Given the description of an element on the screen output the (x, y) to click on. 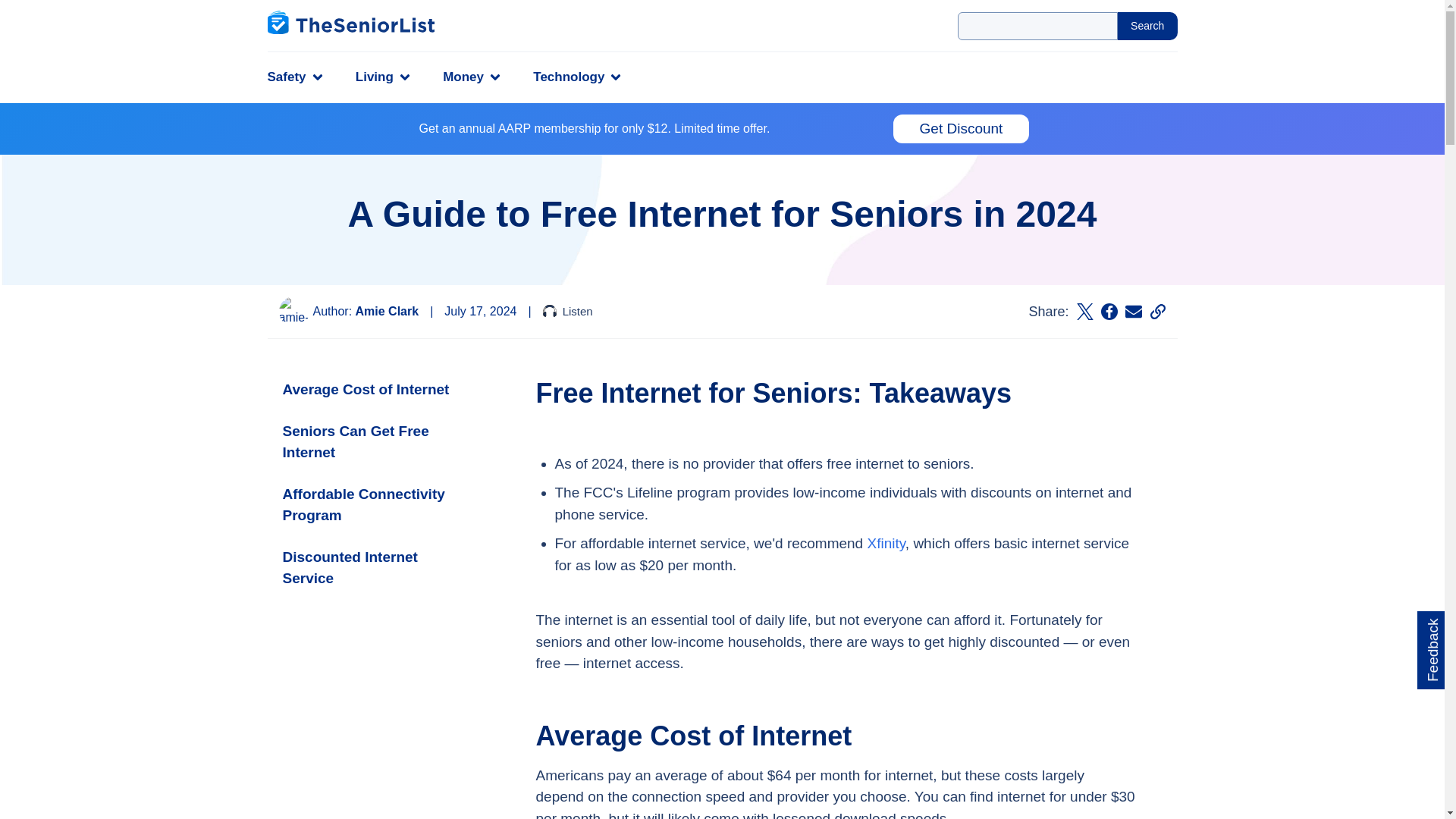
Search (1147, 26)
Copy to clipboard (1158, 311)
Discounted Internet Service (375, 568)
Seniors Can Get Free Internet (375, 442)
Affordable Connectivity Program (375, 504)
Average Cost of Internet (375, 390)
